Given the description of an element on the screen output the (x, y) to click on. 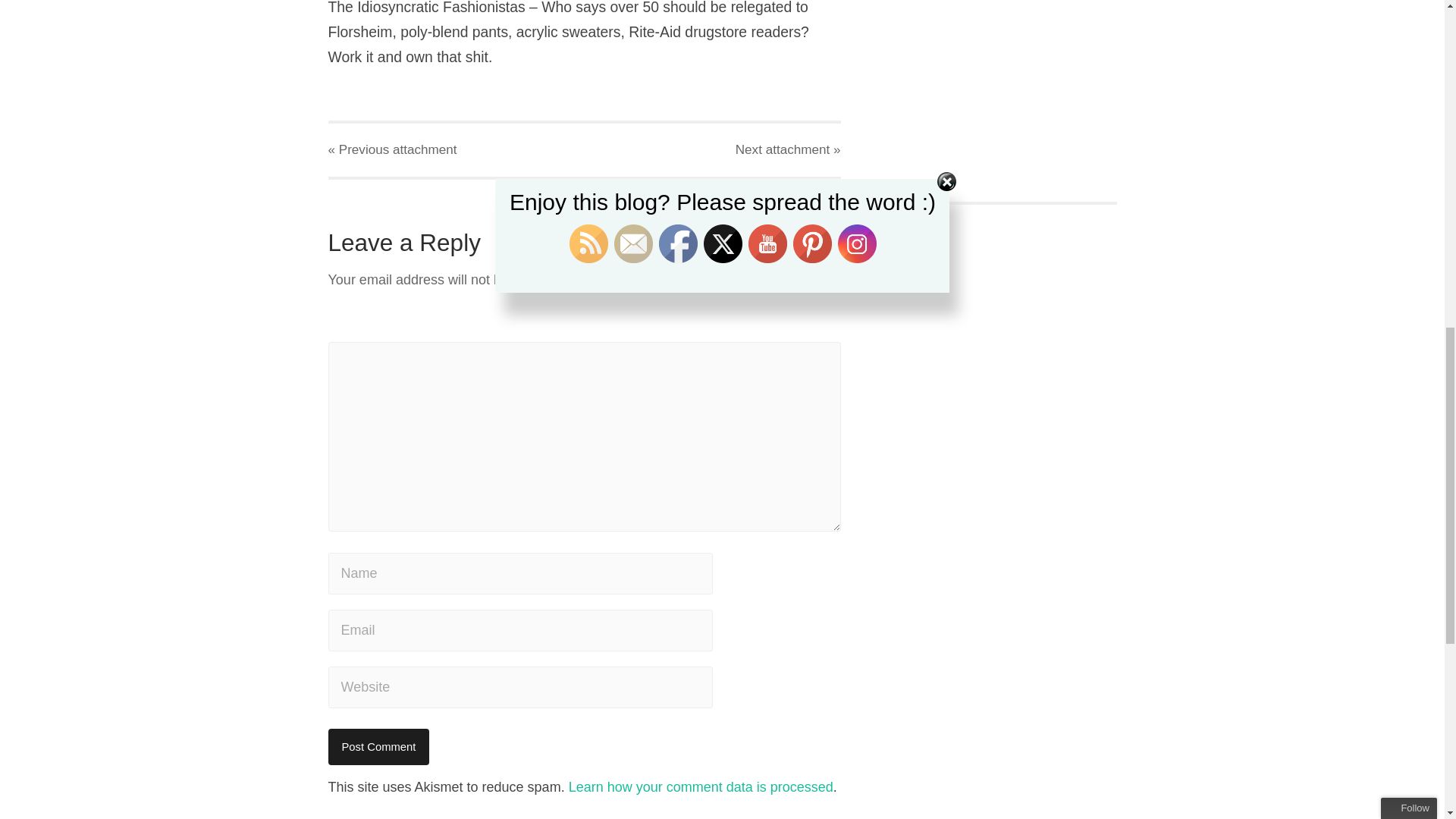
Subscribe (1360, 139)
Advertisement (1012, 81)
Subscribe (1360, 139)
Post Comment (378, 746)
Learn how your comment data is processed (700, 786)
Post Comment (378, 746)
Enter email address (1368, 111)
